Given the description of an element on the screen output the (x, y) to click on. 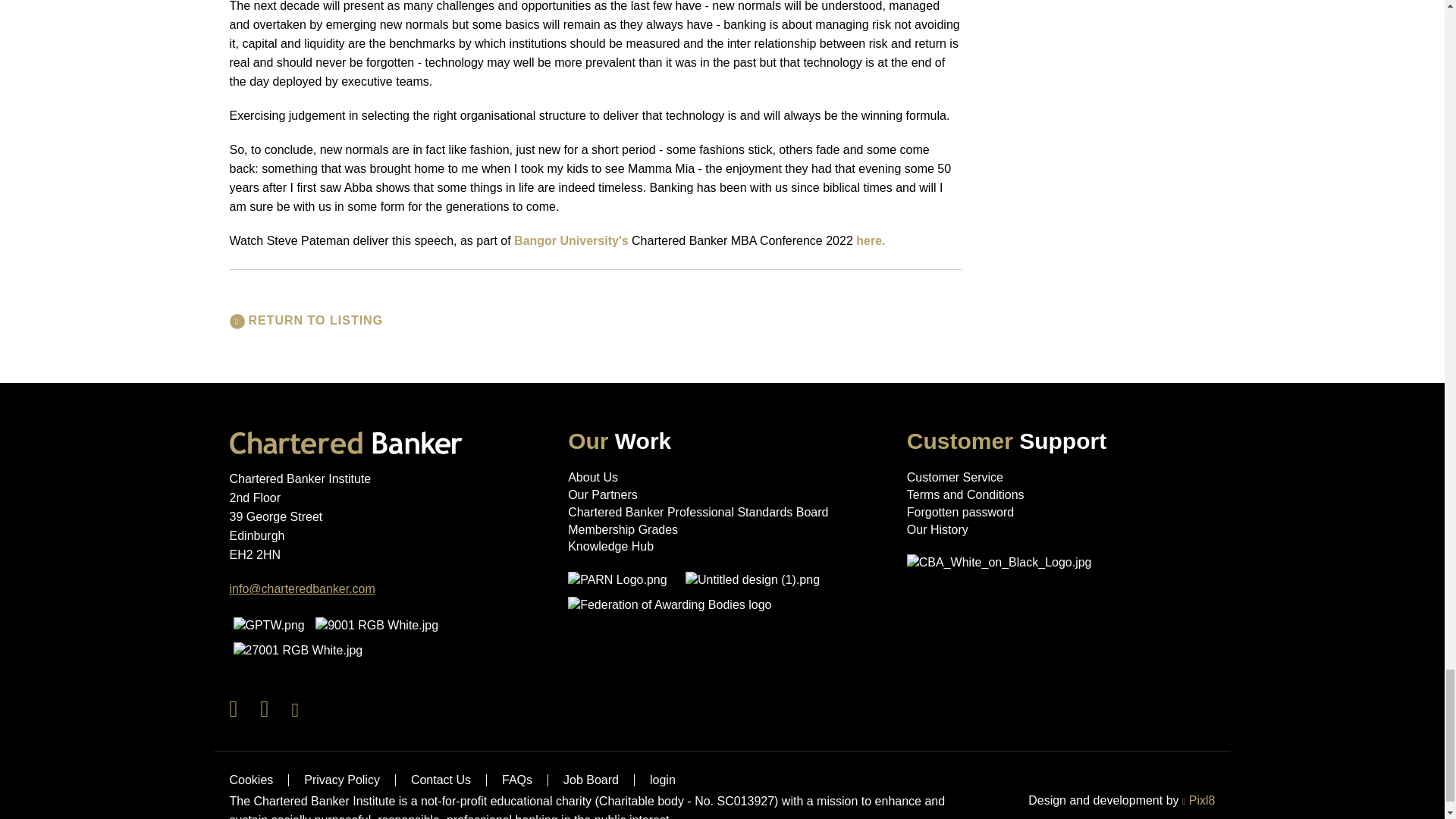
Chartered Banker Professional Standards Board (697, 512)
Federation of Awarding Bodies (669, 603)
Terms and Conditions (966, 494)
Customer Service (955, 477)
